Given the description of an element on the screen output the (x, y) to click on. 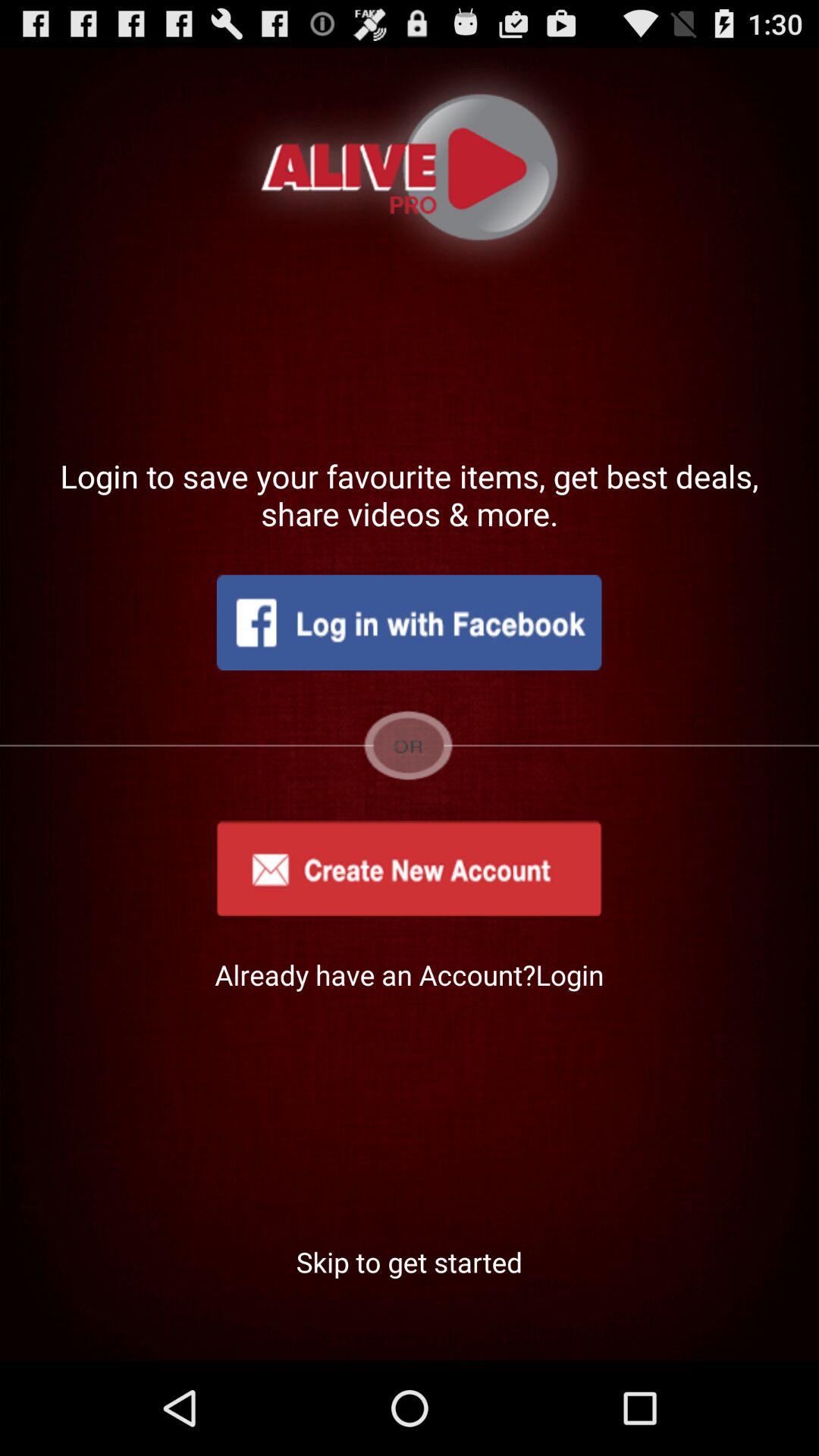
create new app account (408, 868)
